Given the description of an element on the screen output the (x, y) to click on. 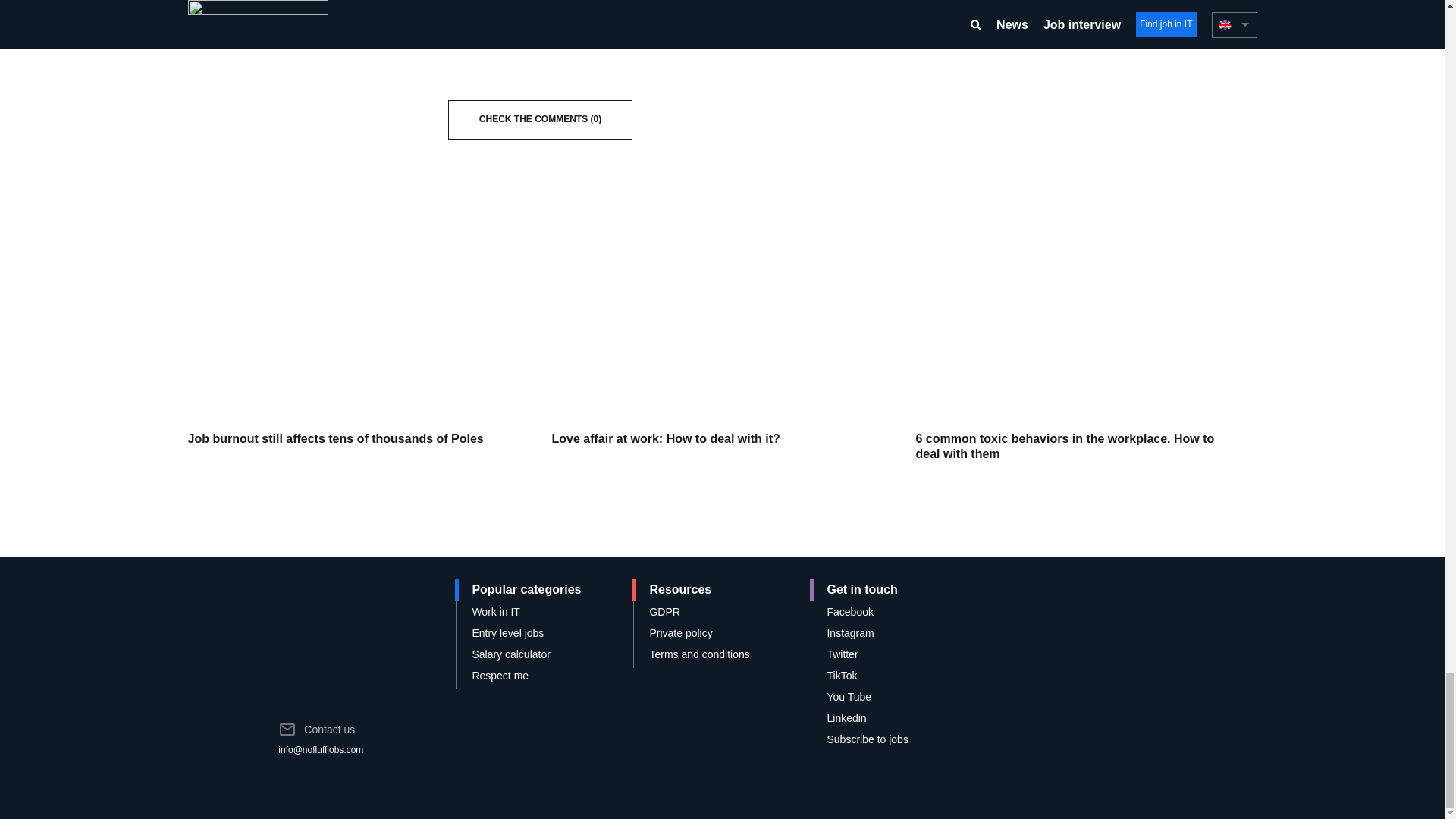
Read more (721, 349)
Read more (1085, 357)
Read more (358, 349)
